Given the description of an element on the screen output the (x, y) to click on. 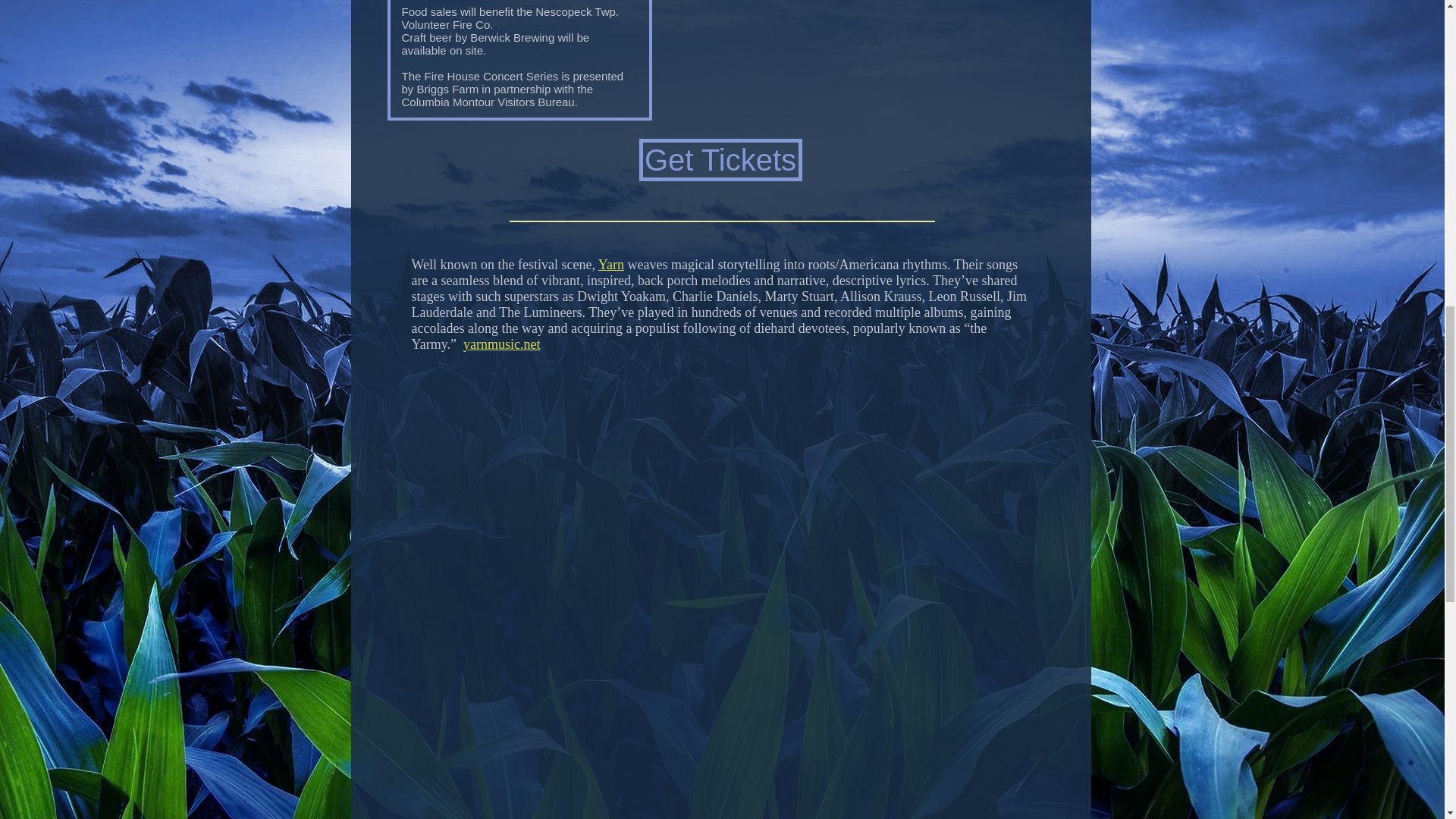
yarnmusic.net (501, 344)
Get Tickets (720, 159)
Yarn (611, 264)
